Given the description of an element on the screen output the (x, y) to click on. 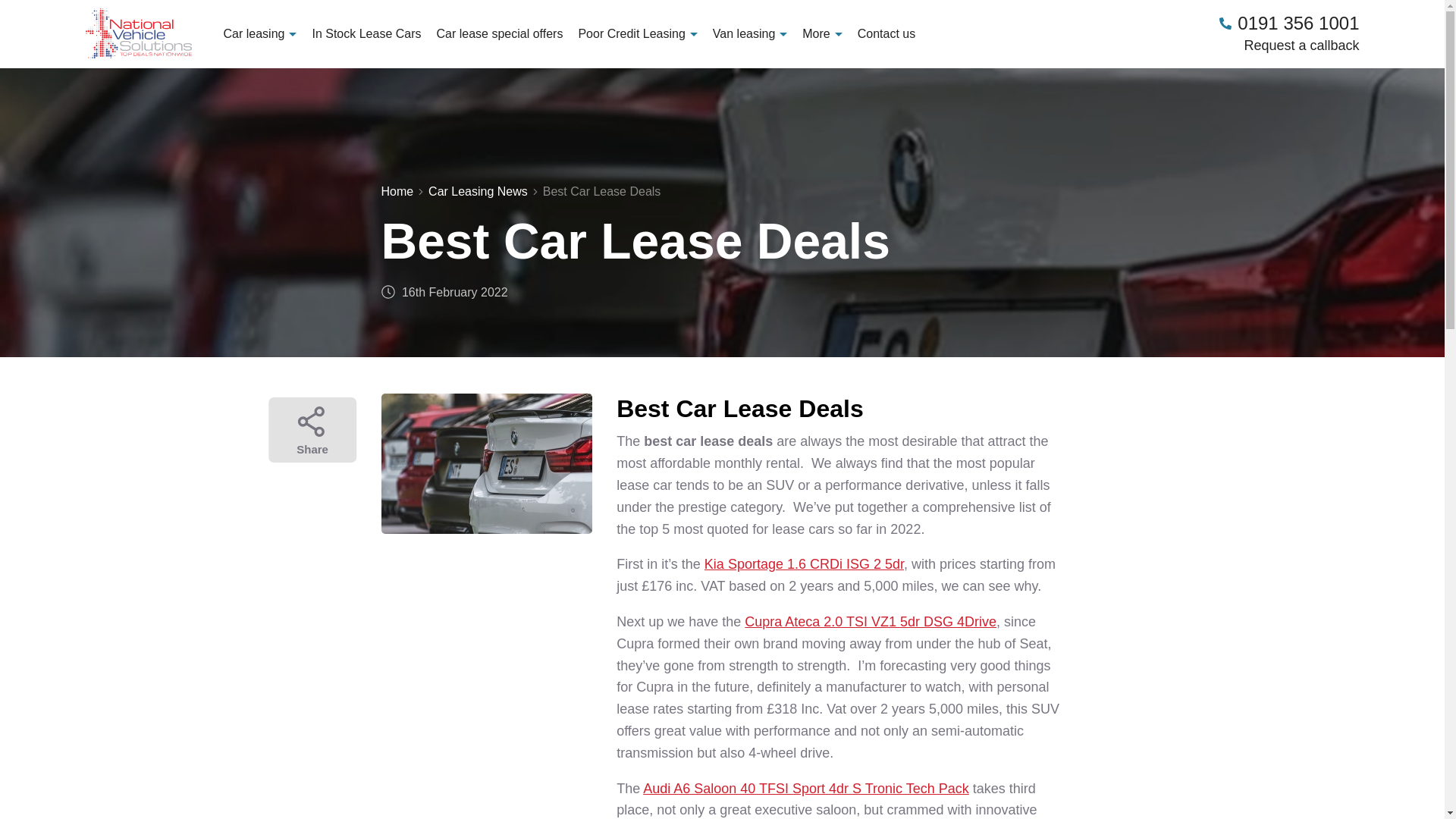
Contact us (886, 33)
Car lease special offers (499, 33)
In Stock Lease Cars (366, 33)
Audi A6 Lease Deal (806, 788)
Cupra Ateca Lease Deal (869, 621)
Kia Sportage Lease Deals (804, 563)
